Given the description of an element on the screen output the (x, y) to click on. 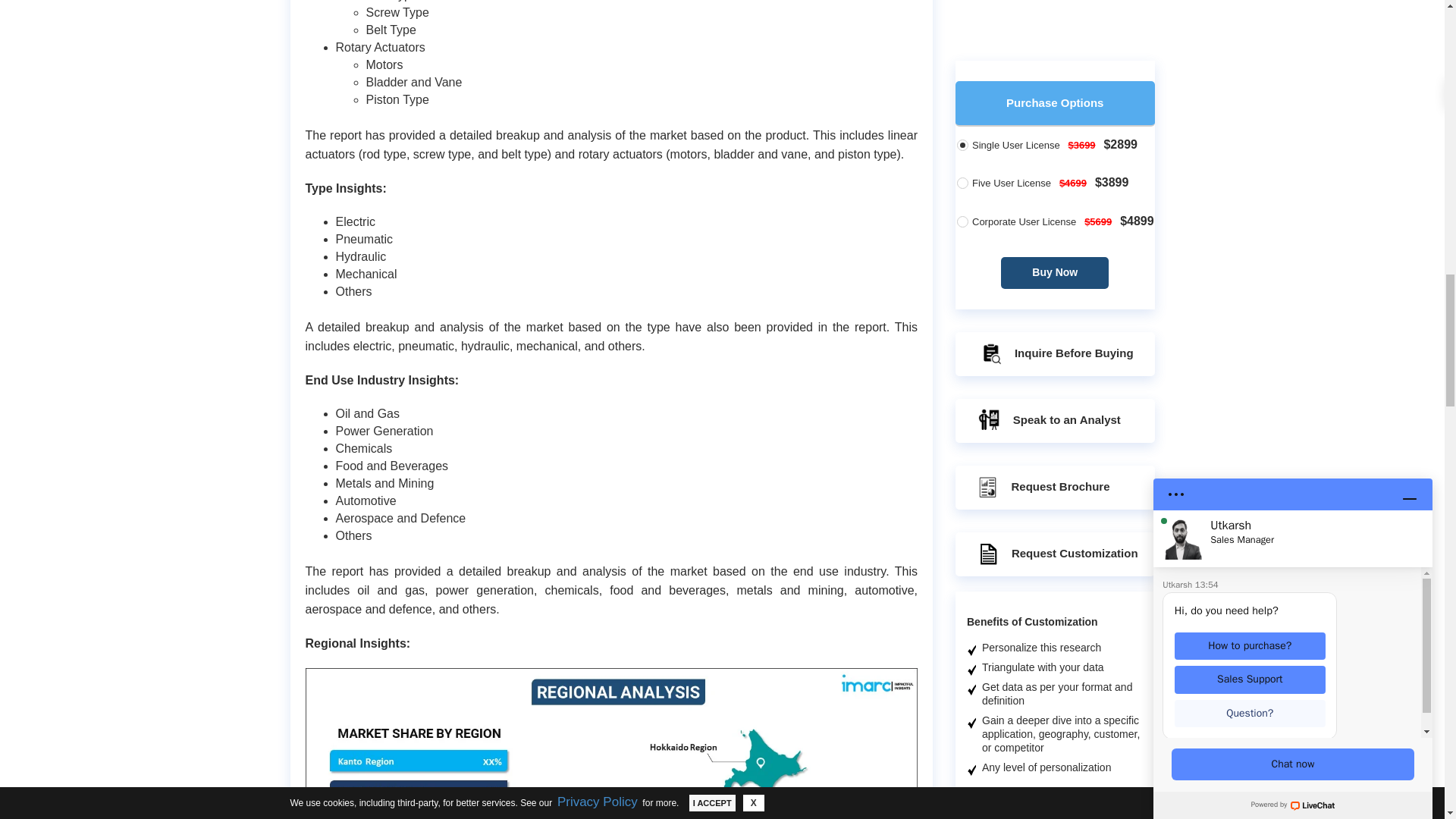
Know more (1081, 12)
